Given the description of an element on the screen output the (x, y) to click on. 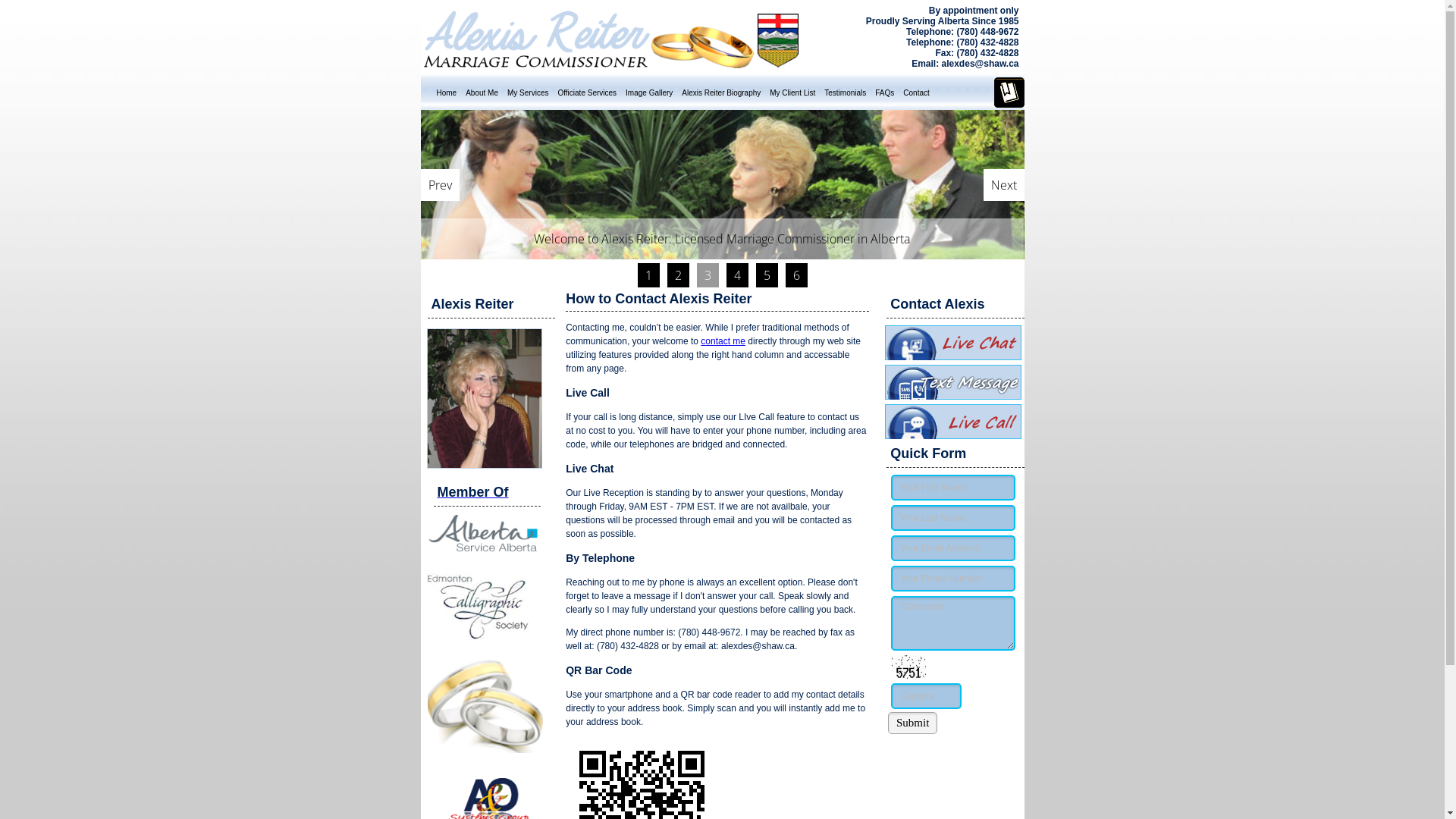
About Me Element type: text (481, 92)
4 Element type: text (737, 275)
My Client List Element type: text (792, 92)
6 Element type: text (796, 275)
Home Element type: text (446, 92)
1 Element type: text (647, 275)
5 Element type: text (766, 275)
Contact Element type: text (915, 92)
Bookmark Alexis Reiter - Marriage Commissioner Element type: hover (1008, 104)
Alexis Reiter Biography Element type: text (721, 92)
Image Gallery Element type: text (649, 92)
Text Message Alexis Reiter Element type: hover (952, 394)
SameGender Marriage Element type: hover (721, 184)
Testimonials Element type: text (844, 92)
FAQs Element type: text (884, 92)
2 Element type: text (678, 275)
3 Element type: text (707, 275)
Prev Element type: text (439, 184)
My Services Element type: text (527, 92)
contact me Element type: text (722, 340)
Next Element type: text (1002, 184)
Officiate Services Element type: text (586, 92)
